Given the description of an element on the screen output the (x, y) to click on. 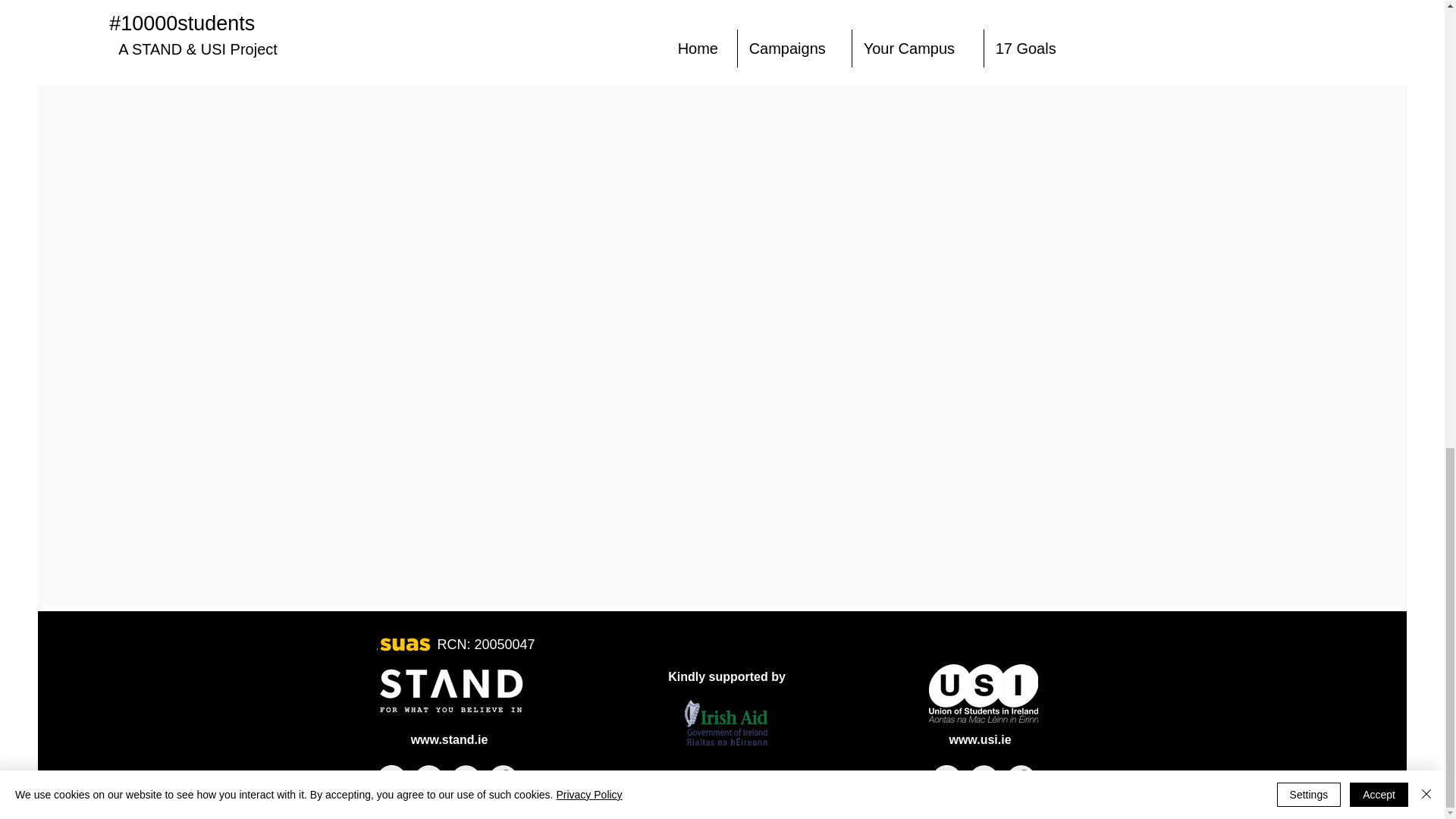
www.stand.ie (448, 739)
www.usi.ie (979, 739)
